Given the description of an element on the screen output the (x, y) to click on. 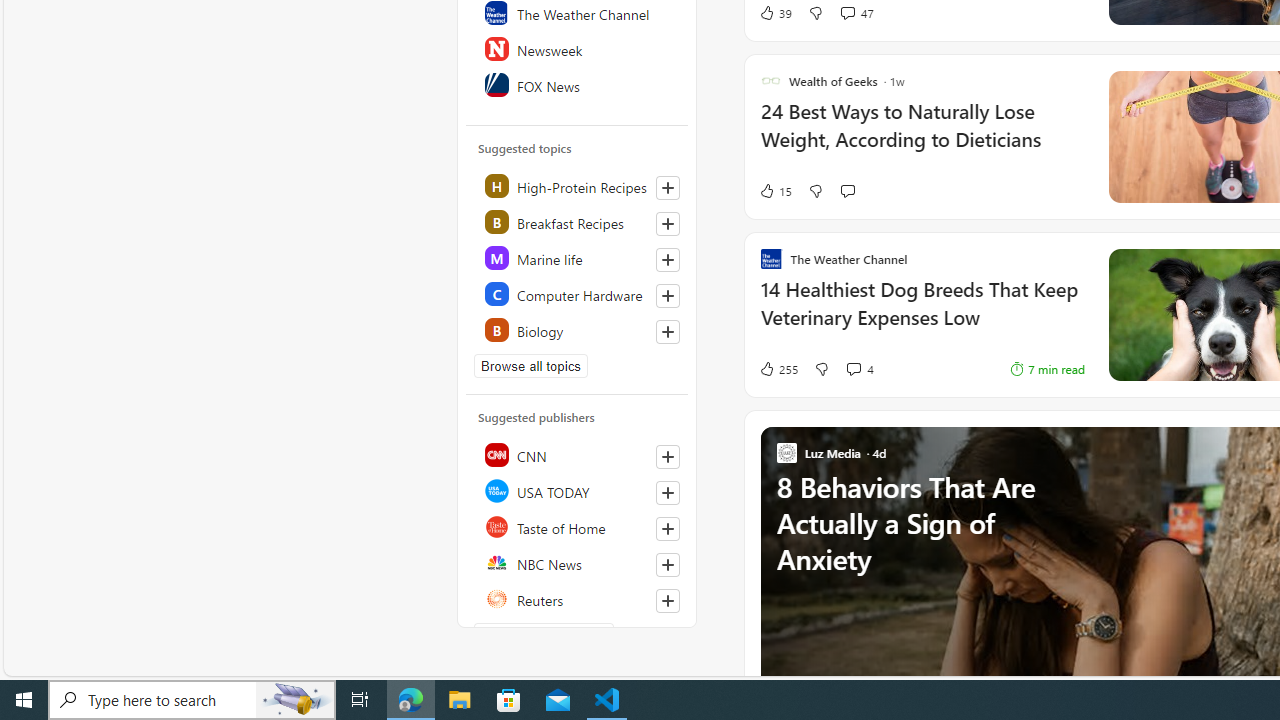
14 Healthiest Dog Breeds That Keep Veterinary Expenses Low (922, 313)
Dislike (821, 368)
Taste of Home (578, 526)
Start the conversation (847, 190)
Start the conversation (847, 191)
Follow this source (667, 600)
Reuters (578, 598)
CNN (578, 454)
View comments 47 Comment (847, 12)
39 Like (775, 12)
Follow this topic (667, 331)
255 Like (778, 368)
